Given the description of an element on the screen output the (x, y) to click on. 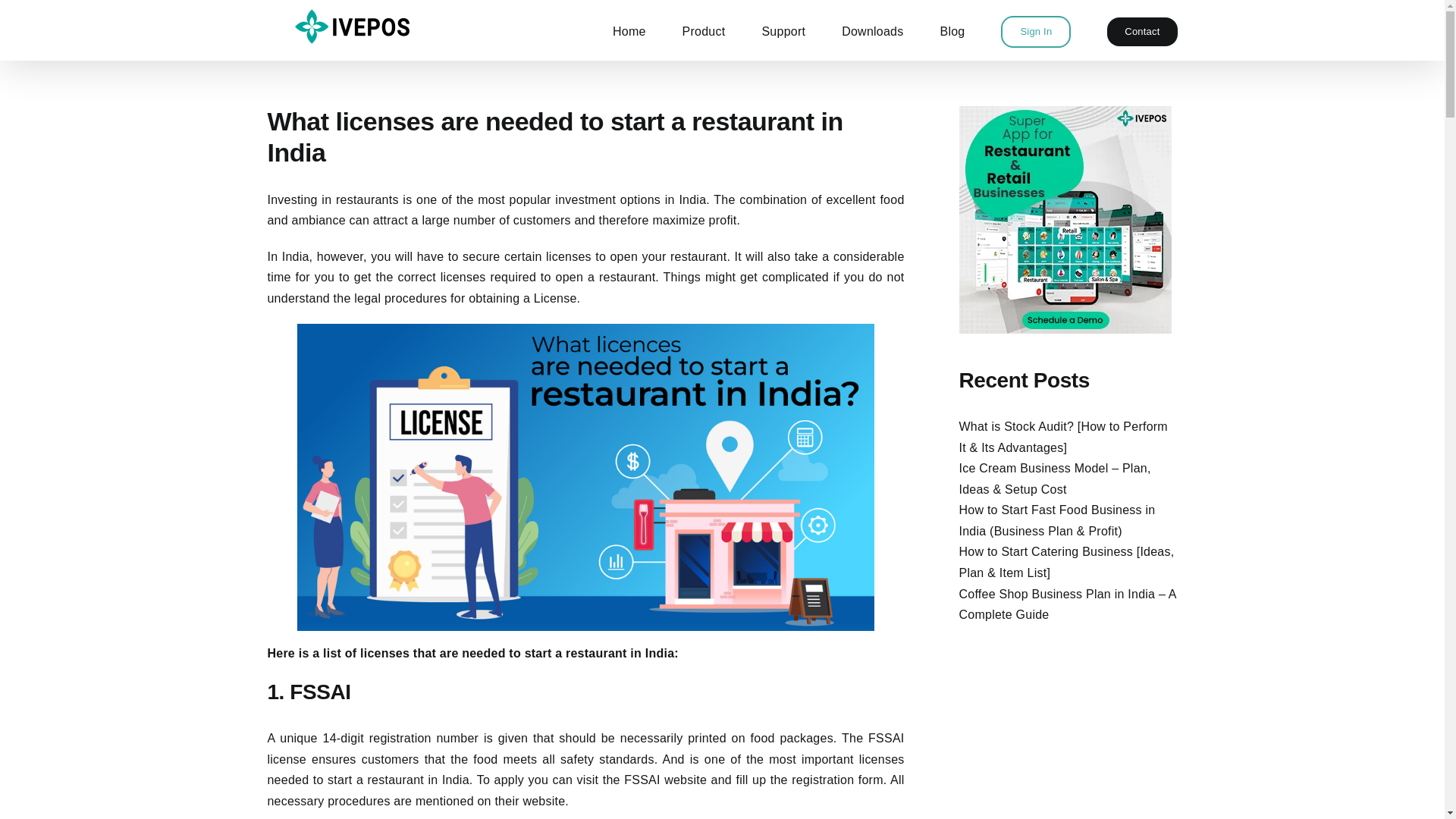
Contact (1141, 30)
Downloads (871, 30)
Sign In (1035, 30)
